Given the description of an element on the screen output the (x, y) to click on. 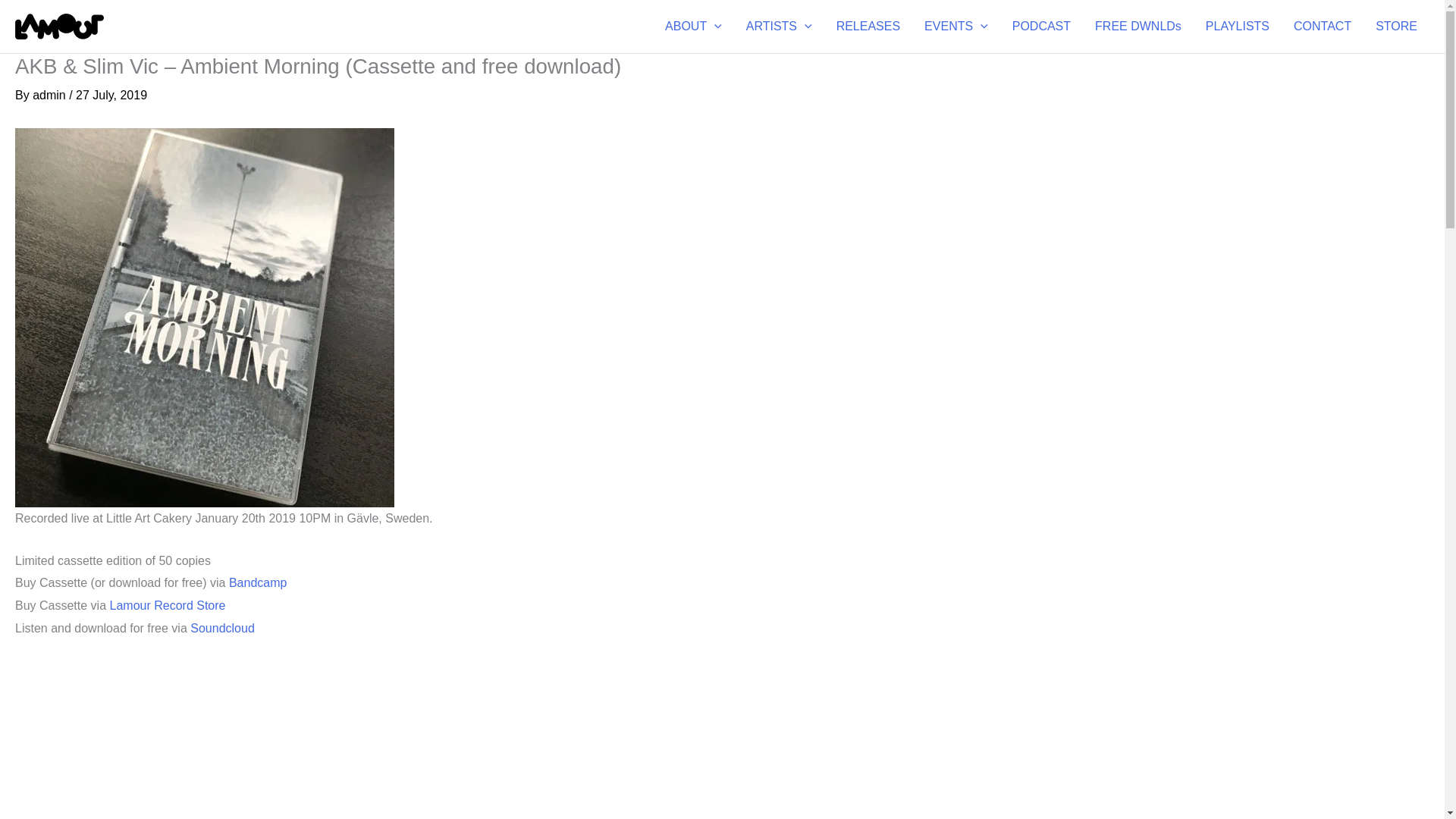
CONTACT (1321, 26)
EVENTS (956, 26)
PODCAST (1041, 26)
STORE (1395, 26)
PLAYLISTS (1237, 26)
ARTISTS (778, 26)
FREE DWNLDs (1138, 26)
ABOUT (692, 26)
RELEASES (868, 26)
View all posts by admin (50, 94)
